Given the description of an element on the screen output the (x, y) to click on. 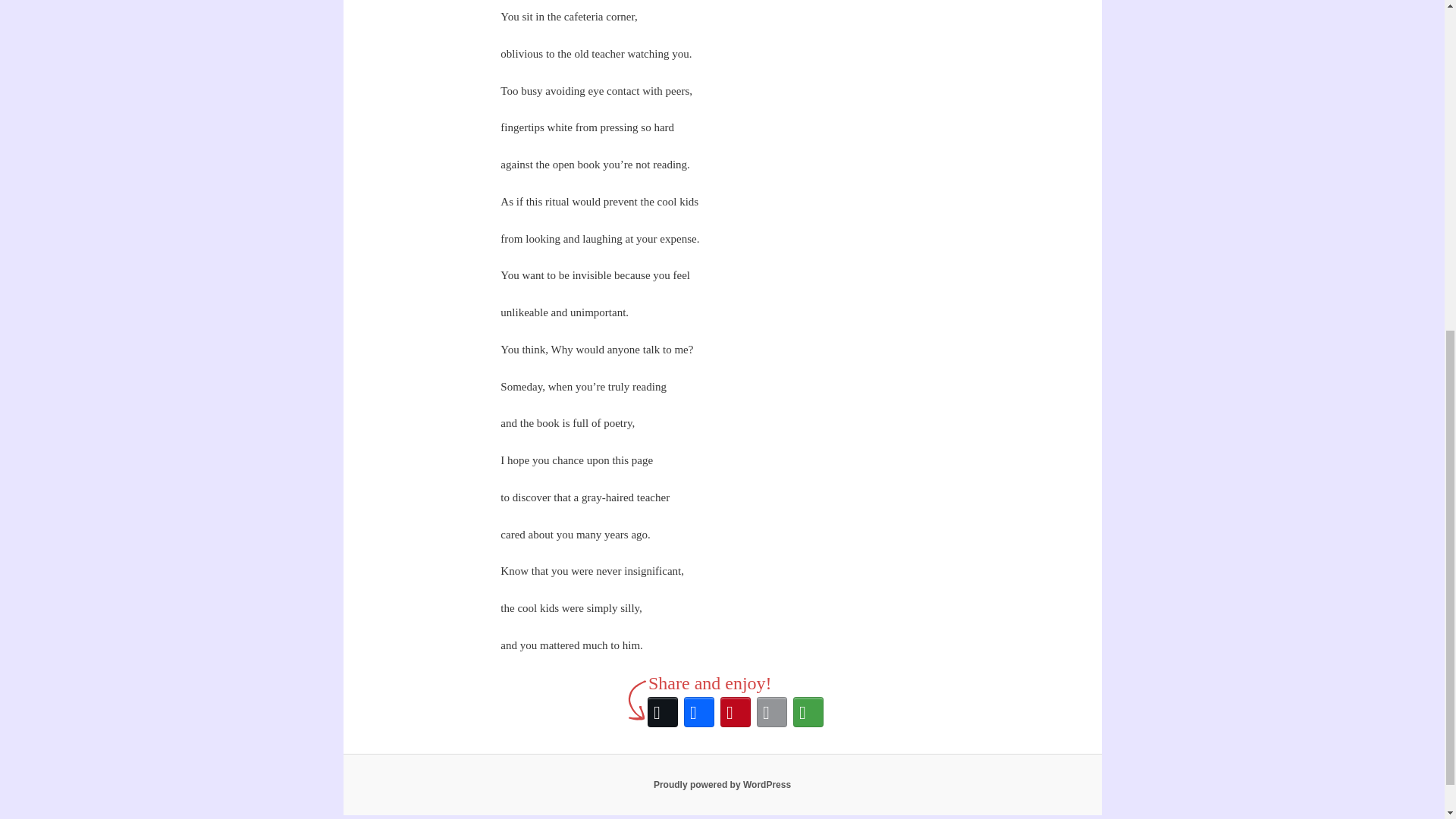
Pinterest (735, 711)
More Options (808, 711)
Semantic Personal Publishing Platform (721, 784)
Email This (772, 711)
Facebook (699, 711)
